Given the description of an element on the screen output the (x, y) to click on. 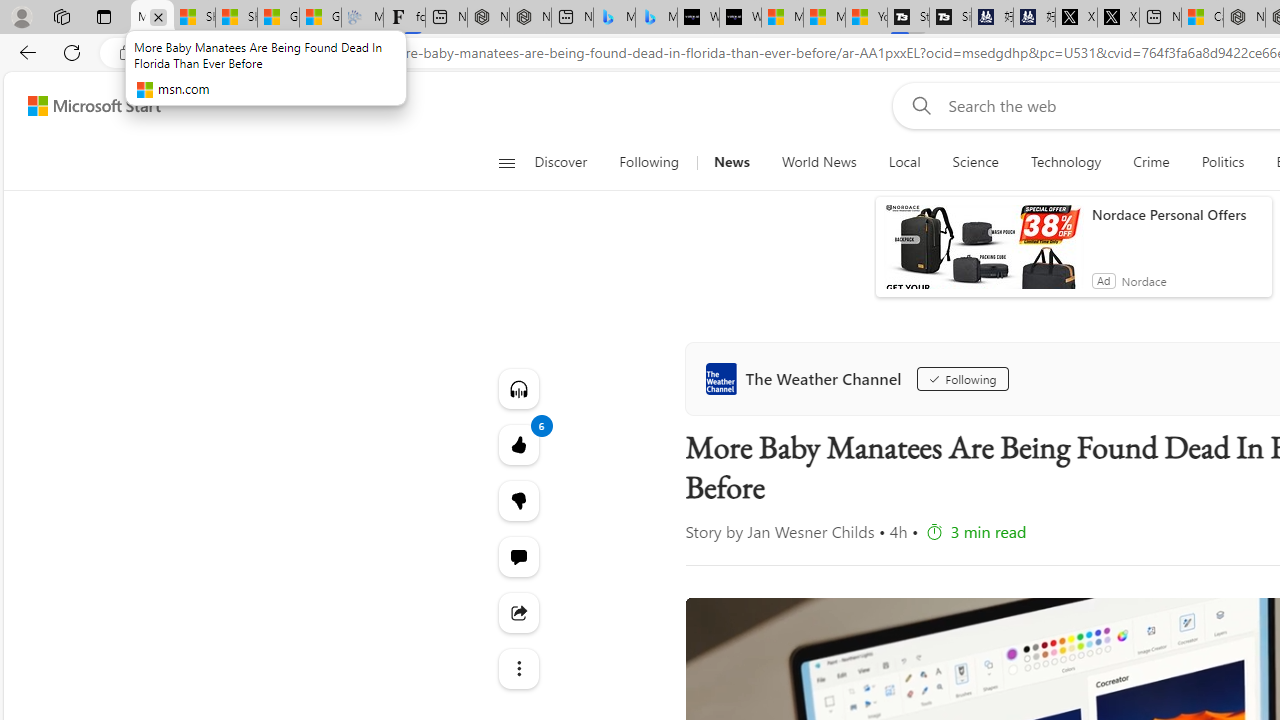
Microsoft Bing Travel - Stays in Bangkok, Bangkok, Thailand (613, 17)
Microsoft Start (94, 105)
X (1118, 17)
Ad (1103, 280)
Open navigation menu (506, 162)
Gilma and Hector both pose tropical trouble for Hawaii (319, 17)
Nordace (1144, 280)
See more (517, 668)
Skip to content (86, 105)
Streaming Coverage | T3 (908, 17)
Local (904, 162)
Shanghai, China weather forecast | Microsoft Weather (236, 17)
Start the conversation (517, 556)
